Given the description of an element on the screen output the (x, y) to click on. 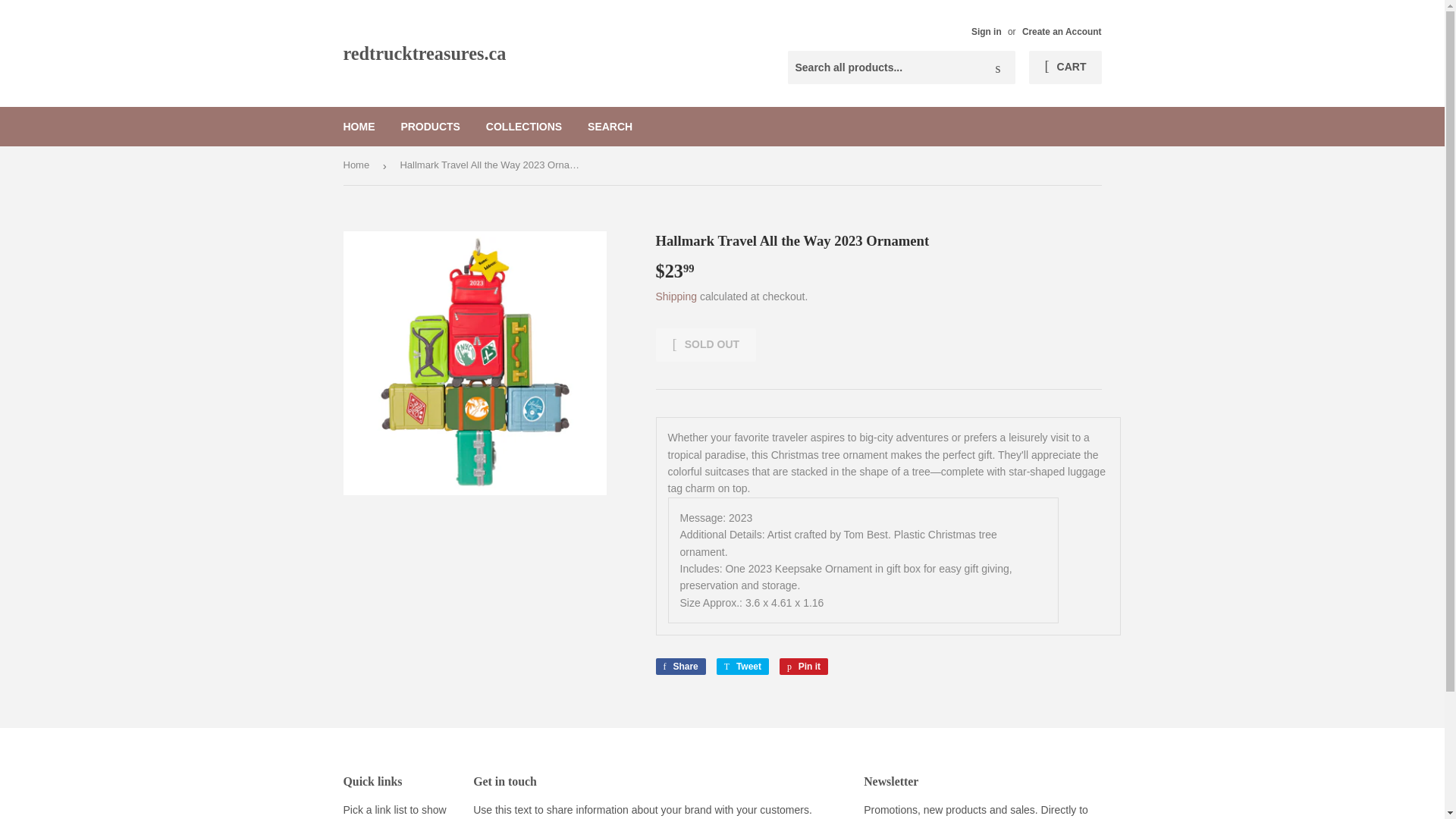
CART (1064, 67)
SEARCH (609, 126)
COLLECTIONS (523, 126)
Search (997, 68)
Create an Account (1062, 31)
redtrucktreasures.ca (532, 53)
HOME (742, 666)
SOLD OUT (359, 126)
